Given the description of an element on the screen output the (x, y) to click on. 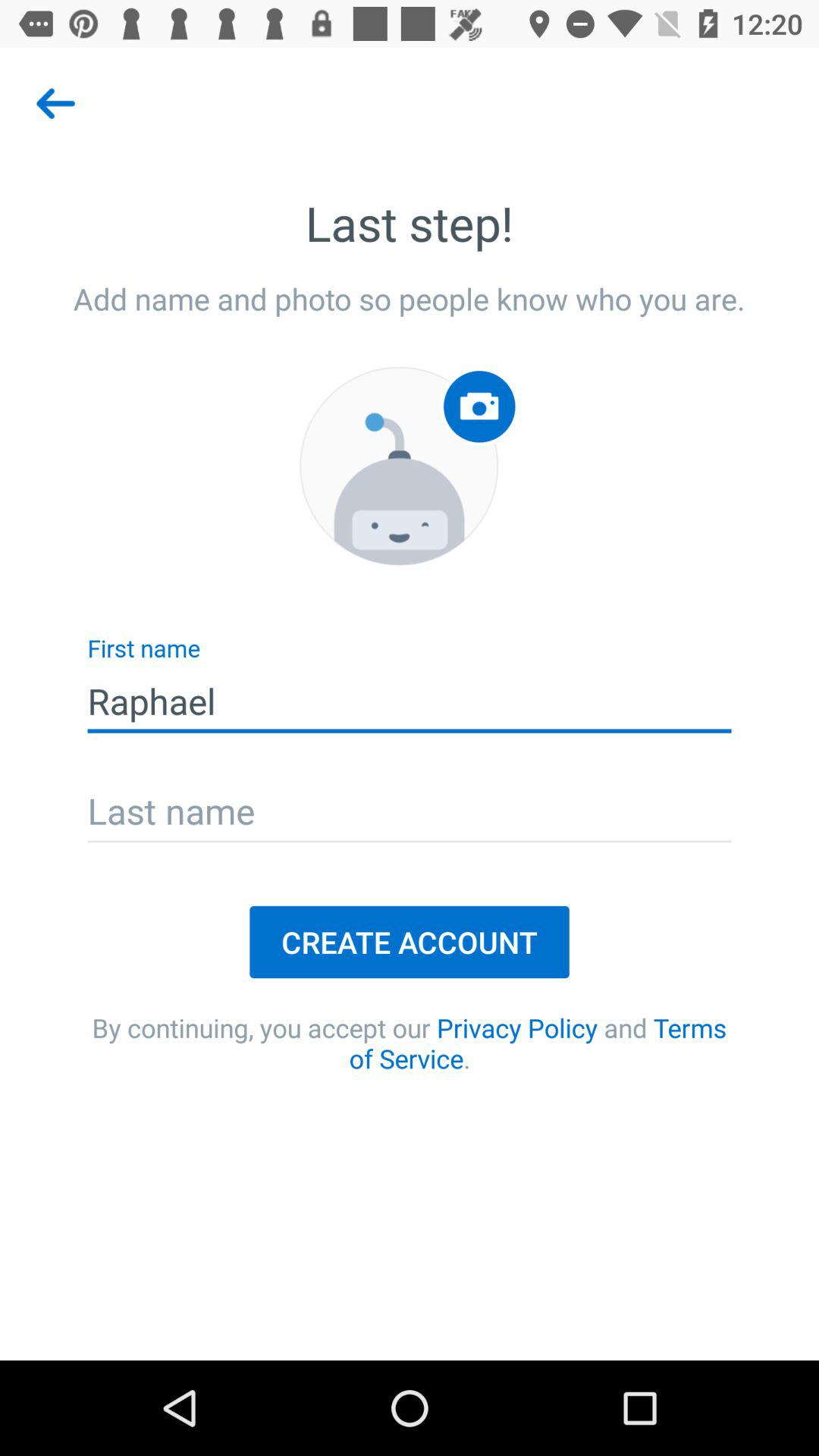
choose icon above by continuing you item (409, 942)
